Given the description of an element on the screen output the (x, y) to click on. 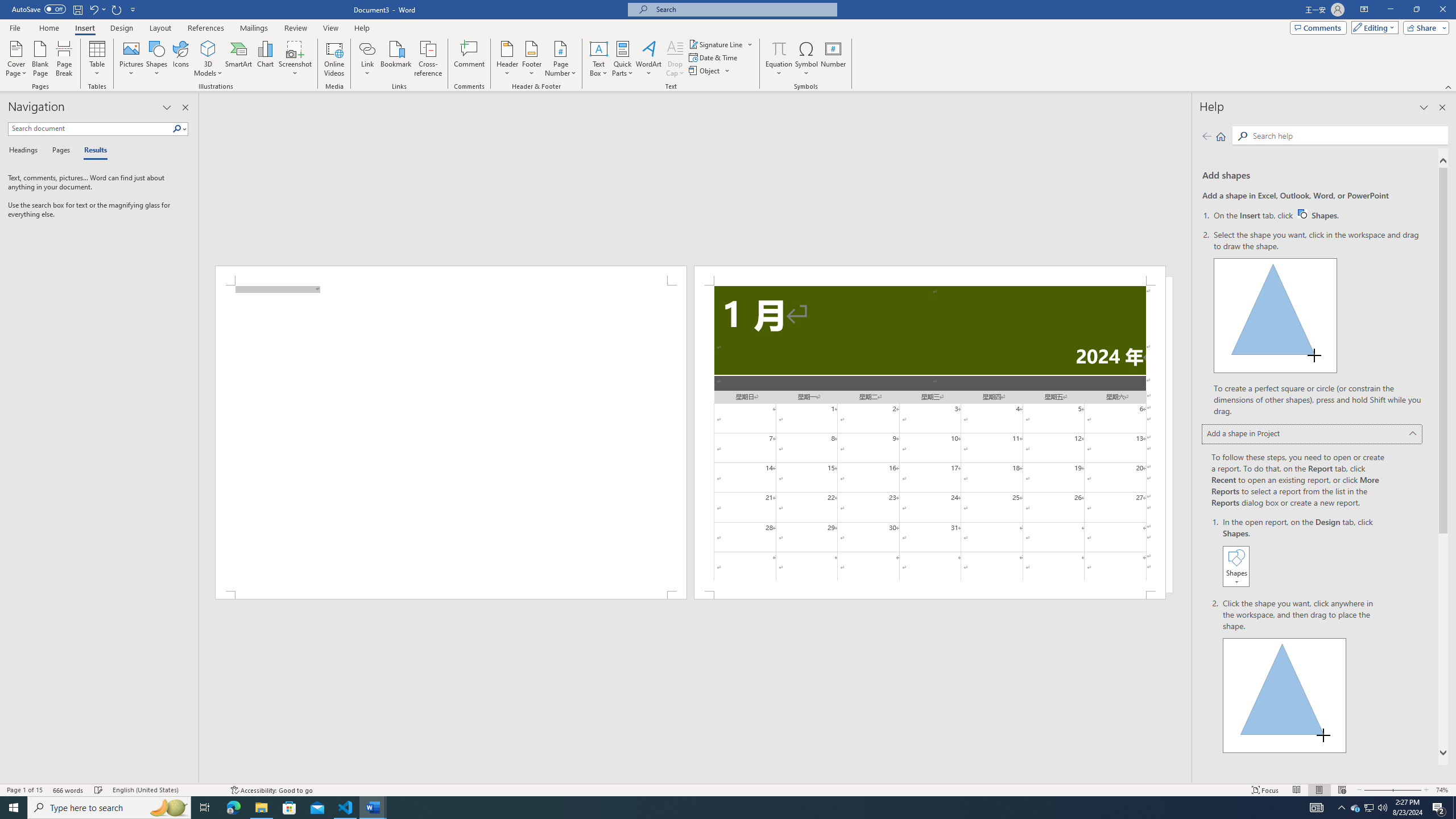
Signature Line (716, 44)
Add a shape in Project (1312, 434)
Quick Parts (622, 58)
